Given the description of an element on the screen output the (x, y) to click on. 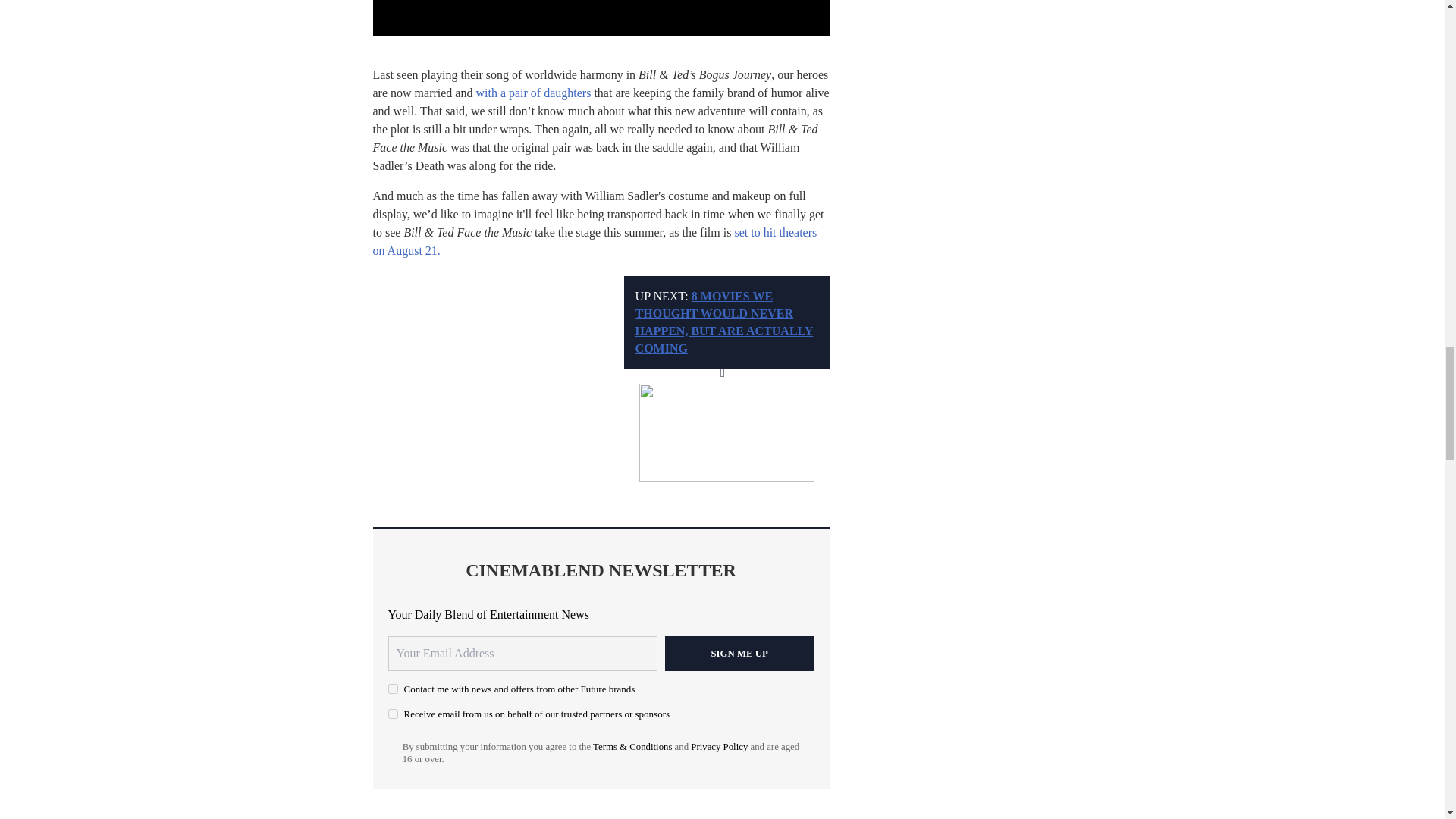
Sign me up (739, 653)
on (392, 714)
on (392, 688)
